Given the description of an element on the screen output the (x, y) to click on. 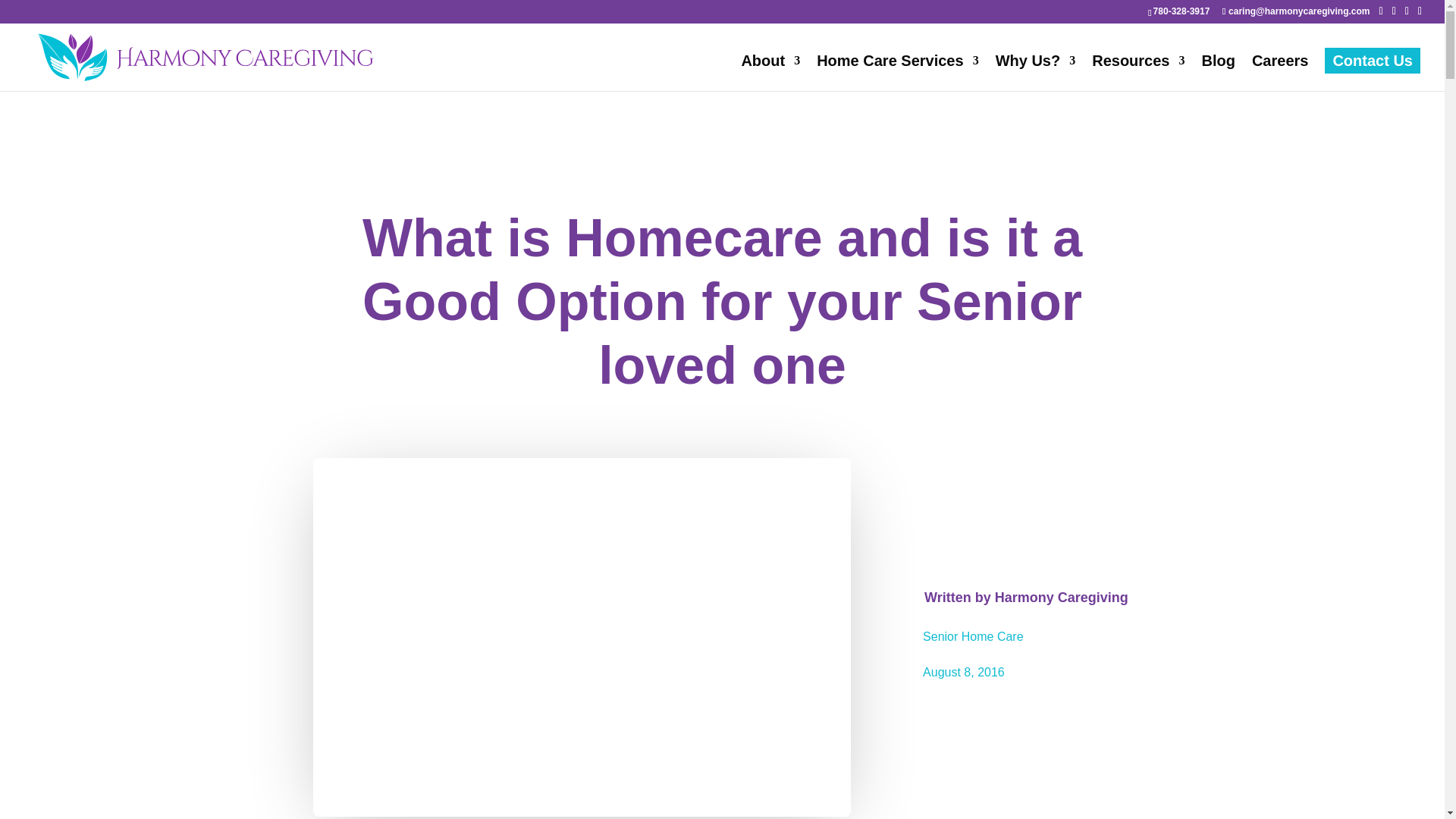
Home Care Services (897, 72)
Resources (1138, 72)
About (770, 72)
Why Us? (1035, 72)
Blog (1217, 72)
